Given the description of an element on the screen output the (x, y) to click on. 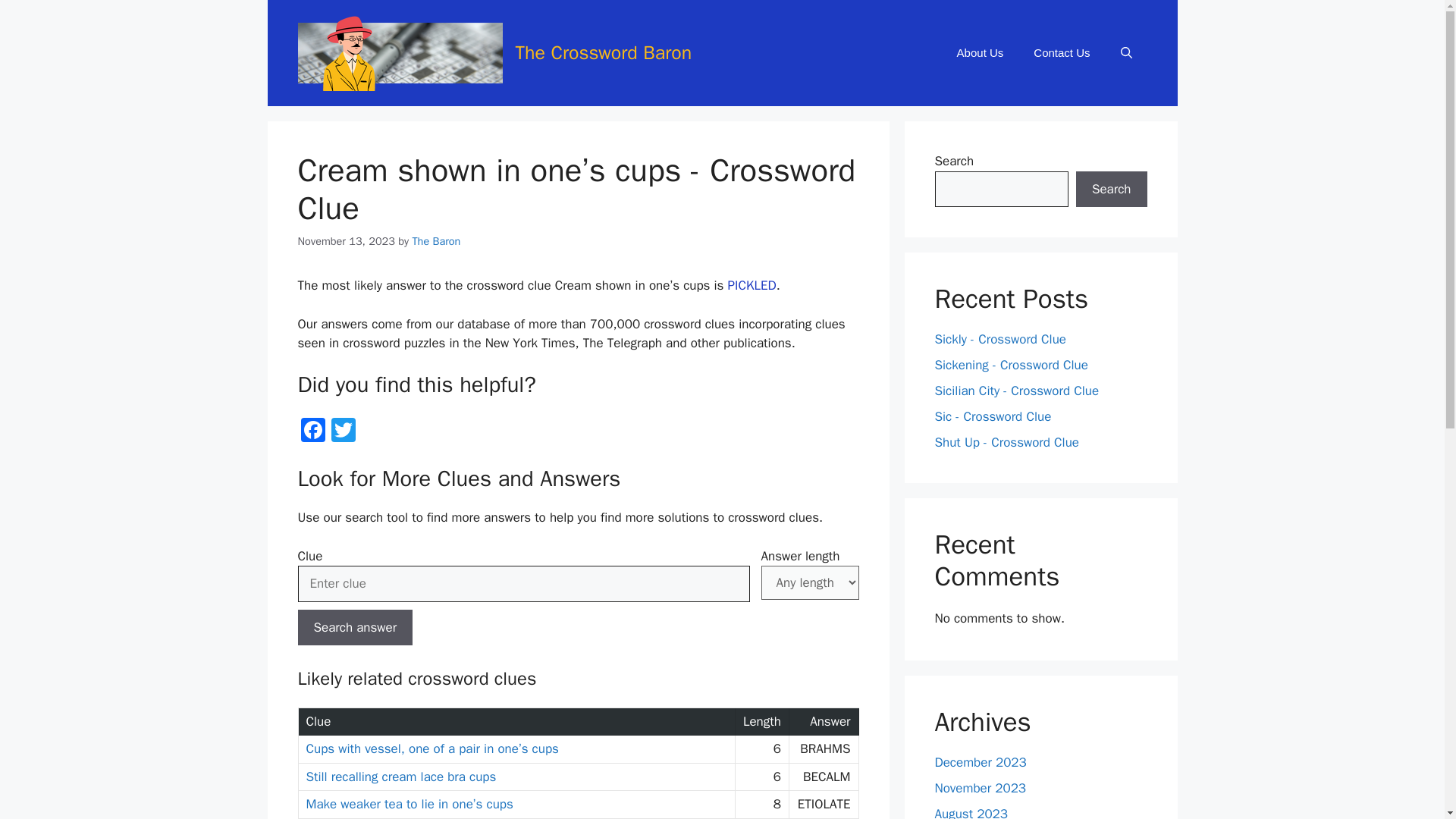
Search (1111, 189)
Sickly - Crossword Clue (999, 339)
Search answer (354, 627)
December 2023 (980, 762)
Twitter (342, 431)
November 2023 (980, 788)
About Us (980, 53)
Still recalling cream lace bra cups (400, 776)
Shut Up - Crossword Clue (1006, 442)
Sicilian City - Crossword Clue (1016, 390)
